Given the description of an element on the screen output the (x, y) to click on. 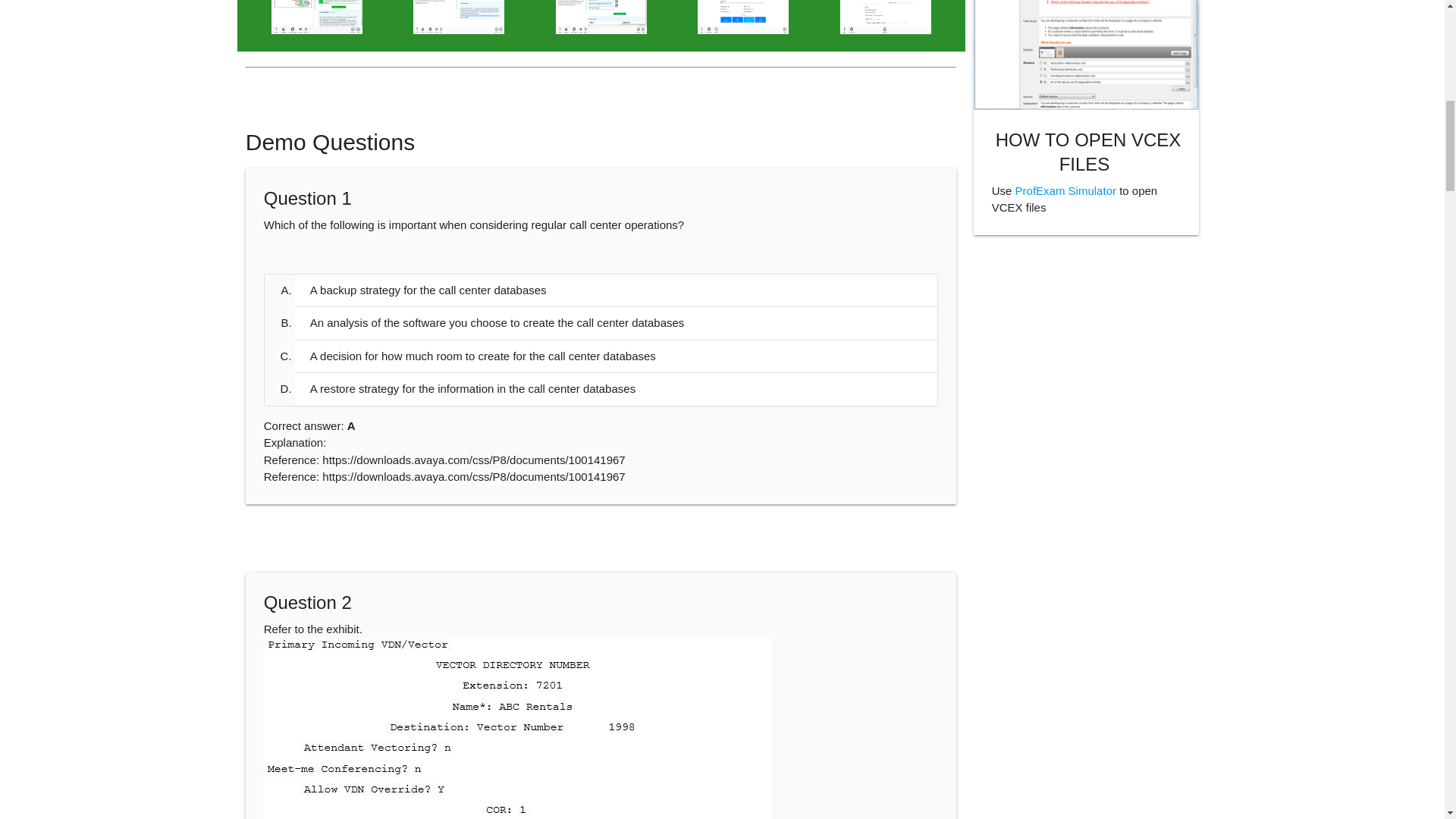
ProfExam Simulator (1065, 190)
